Given the description of an element on the screen output the (x, y) to click on. 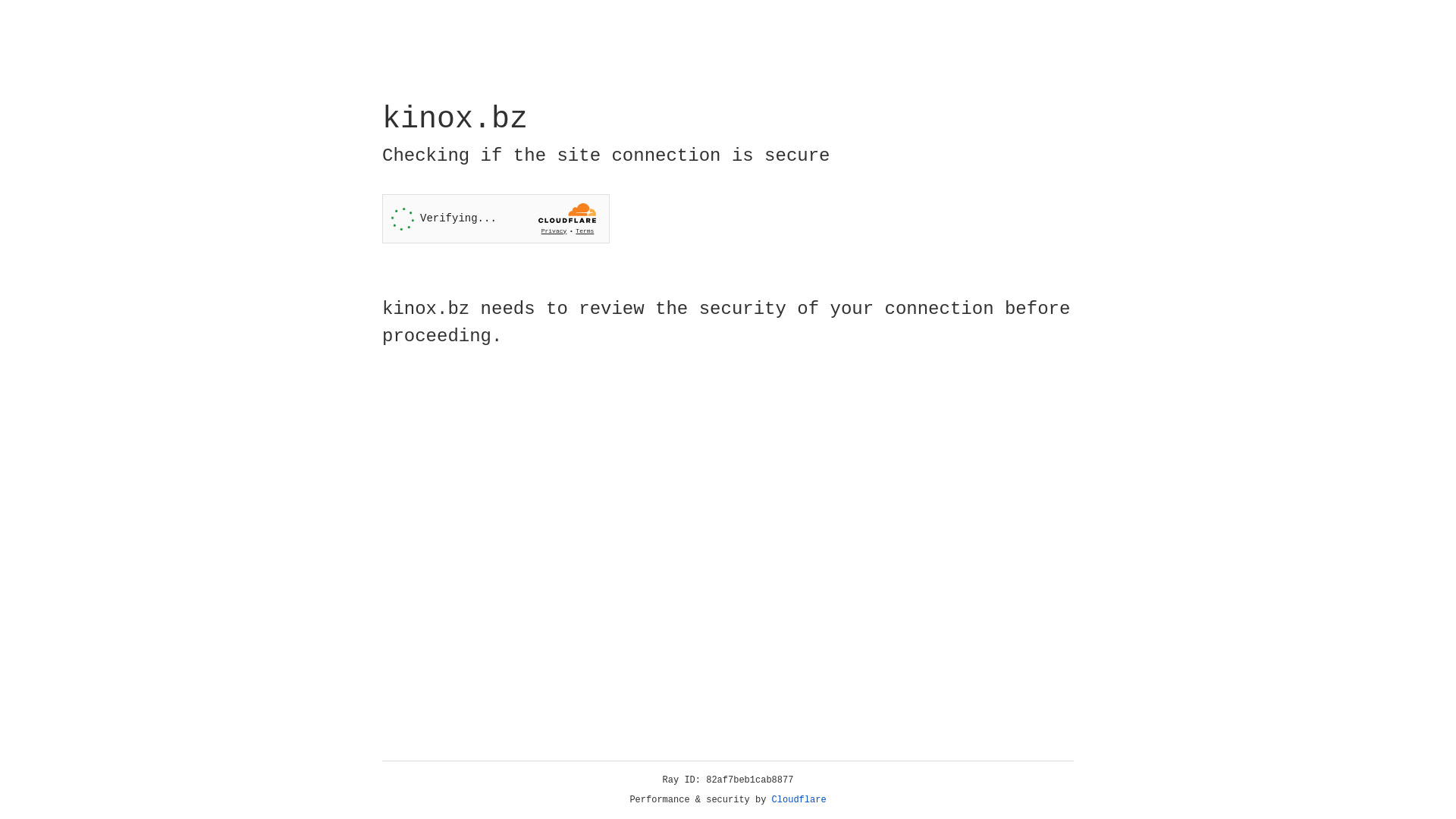
Cloudflare Element type: text (798, 799)
Widget containing a Cloudflare security challenge Element type: hover (495, 218)
